Given the description of an element on the screen output the (x, y) to click on. 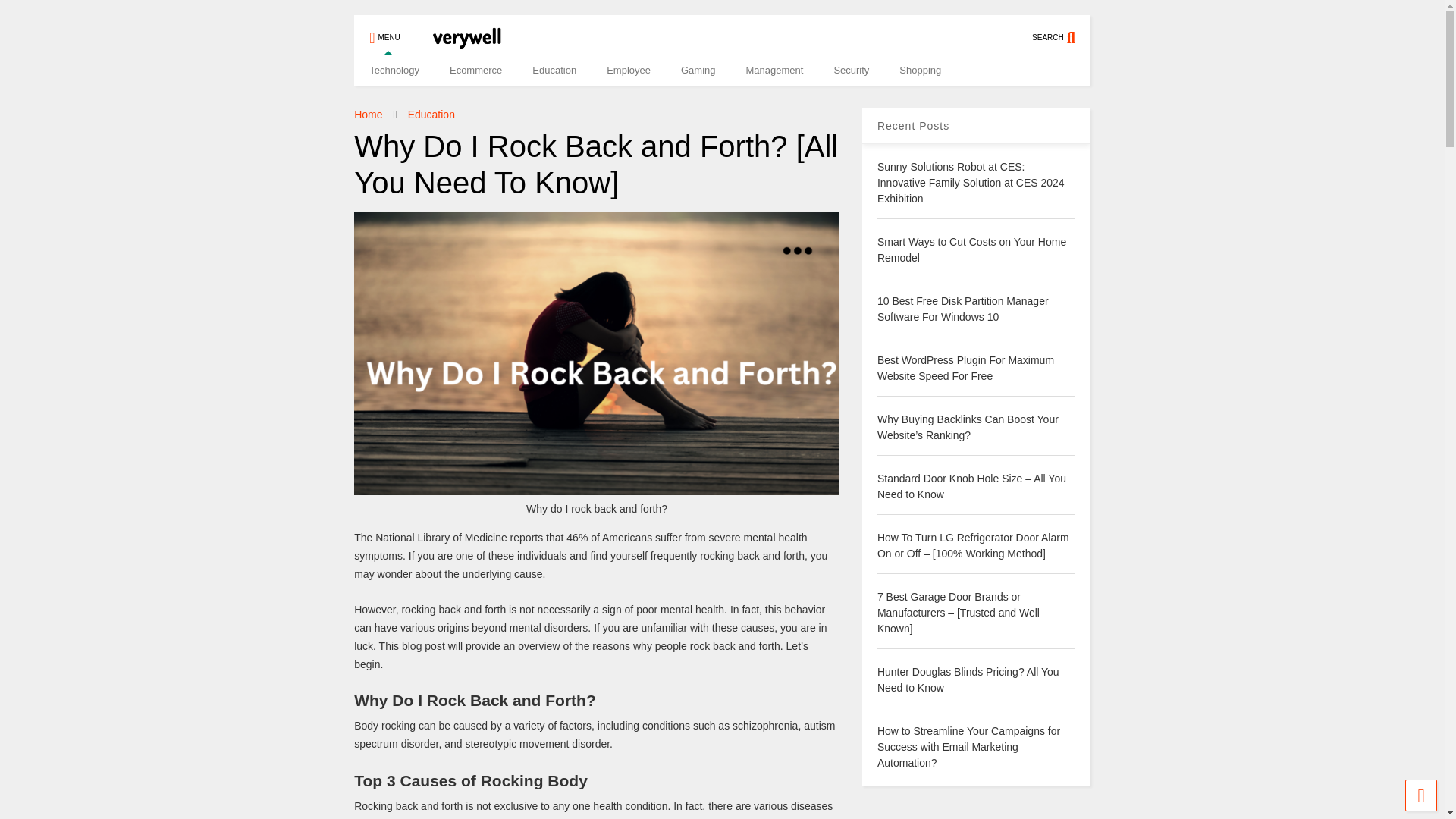
Gaming (697, 70)
Verywell Tech - Power of Technology (479, 42)
Shopping (919, 70)
Ecommerce (474, 70)
Security (850, 70)
Technology (393, 70)
Management (774, 70)
MENU (383, 30)
Home (367, 114)
SEARCH (1061, 30)
Education (553, 70)
Education (430, 114)
Employee (628, 70)
